Given the description of an element on the screen output the (x, y) to click on. 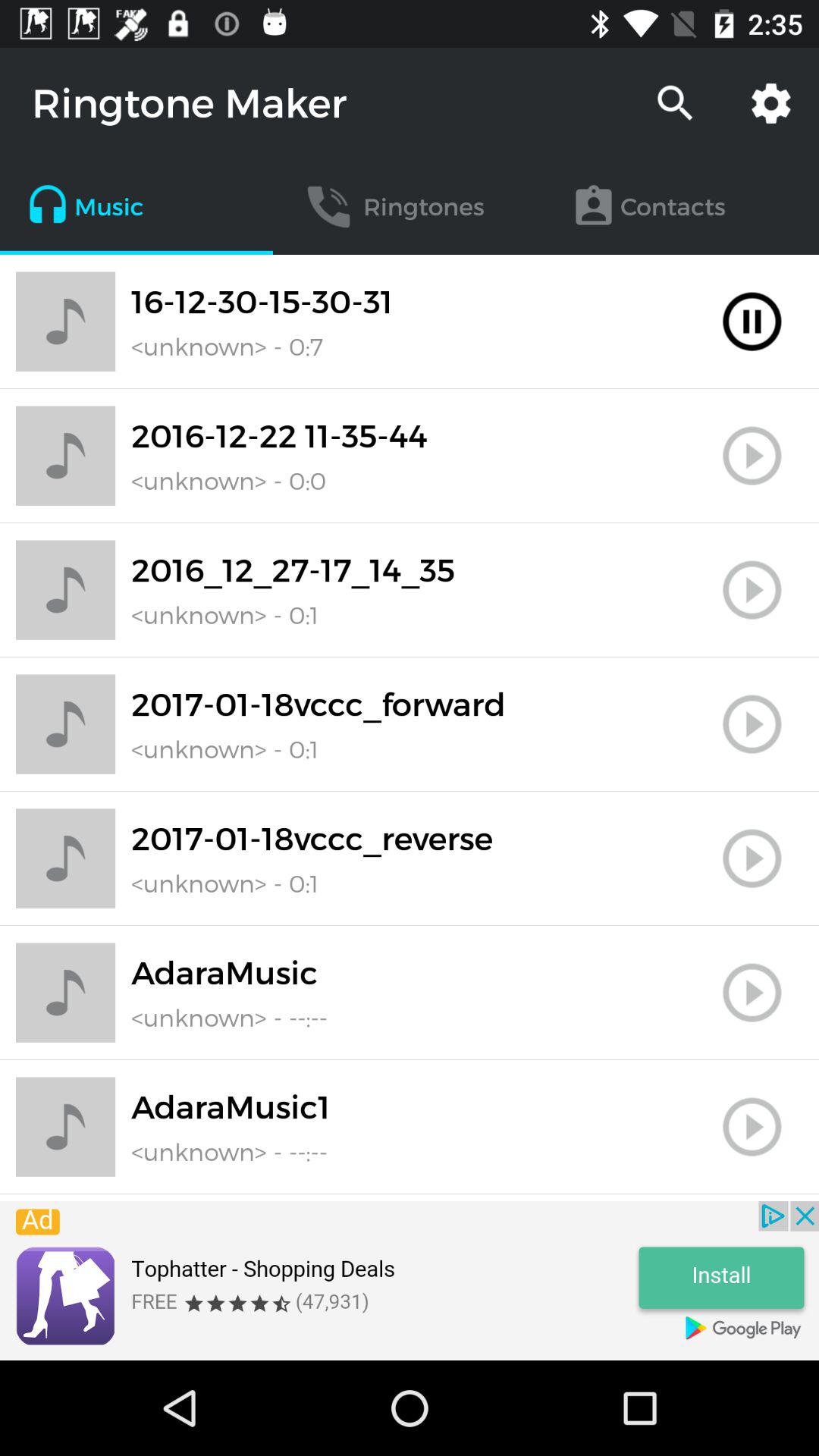
play a playlist (752, 455)
